Given the description of an element on the screen output the (x, y) to click on. 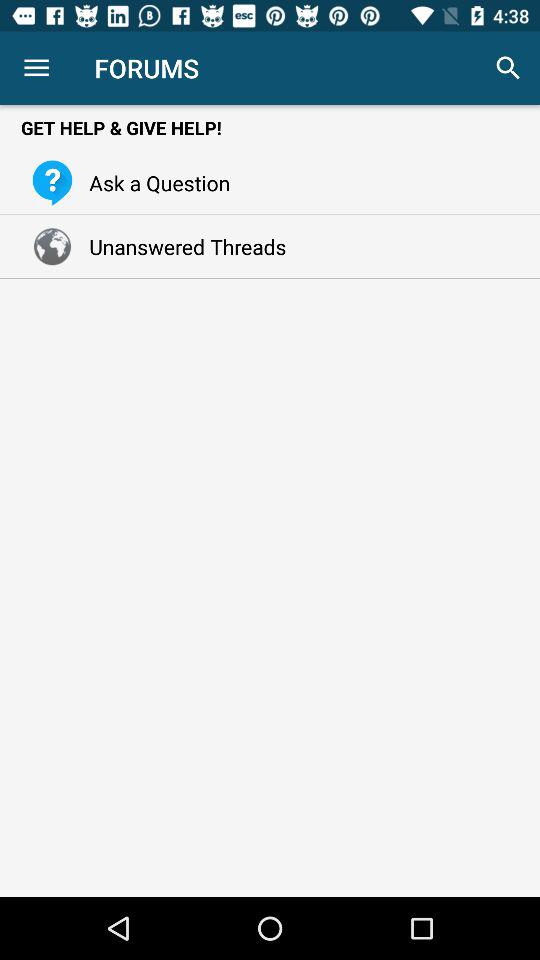
tap the icon next to the forums (508, 67)
